Given the description of an element on the screen output the (x, y) to click on. 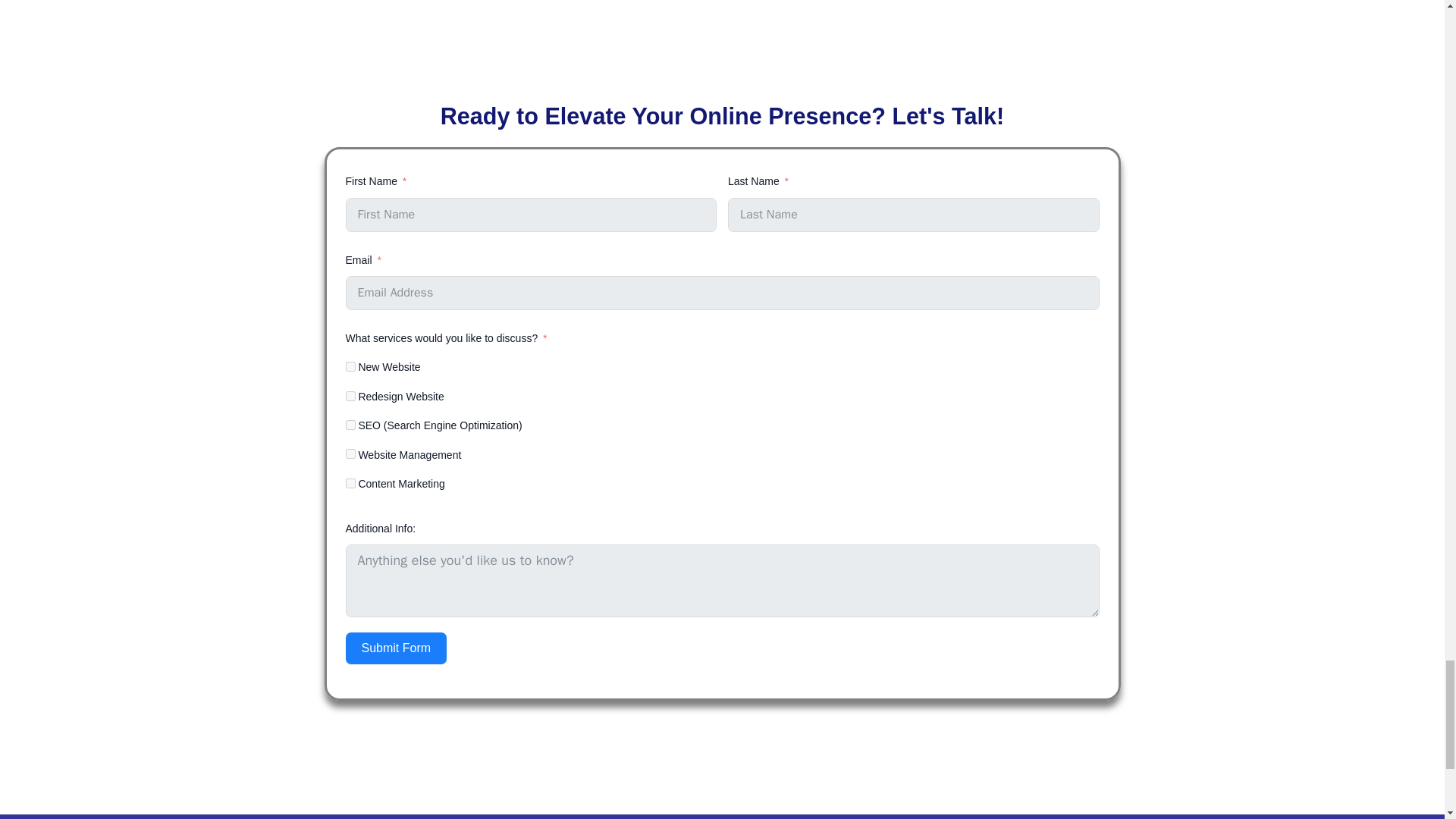
Content Marketing (350, 483)
Website Management (350, 453)
Redesign Website (350, 396)
New Website (350, 366)
